Given the description of an element on the screen output the (x, y) to click on. 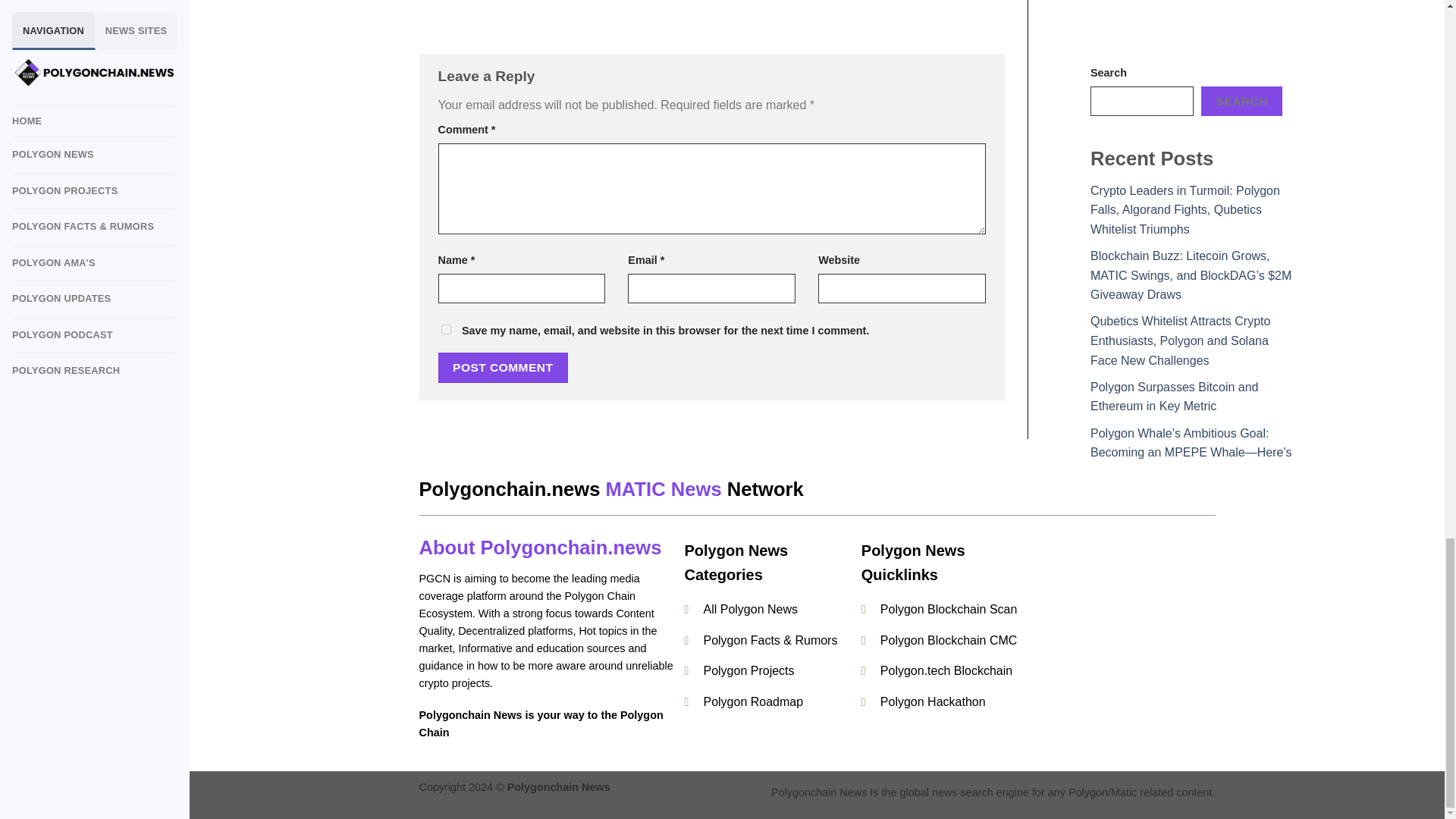
yes (446, 329)
Polygon Blockchain CMC (948, 640)
Post Comment (503, 367)
Post Comment (503, 367)
Polygon Roadmap  (754, 701)
Polygon Projects (748, 670)
All Polygon News (750, 608)
Polygon Hackathon (932, 701)
Polygon.tech Blockchain (945, 670)
Polygon Blockchain Scan (948, 608)
